Given the description of an element on the screen output the (x, y) to click on. 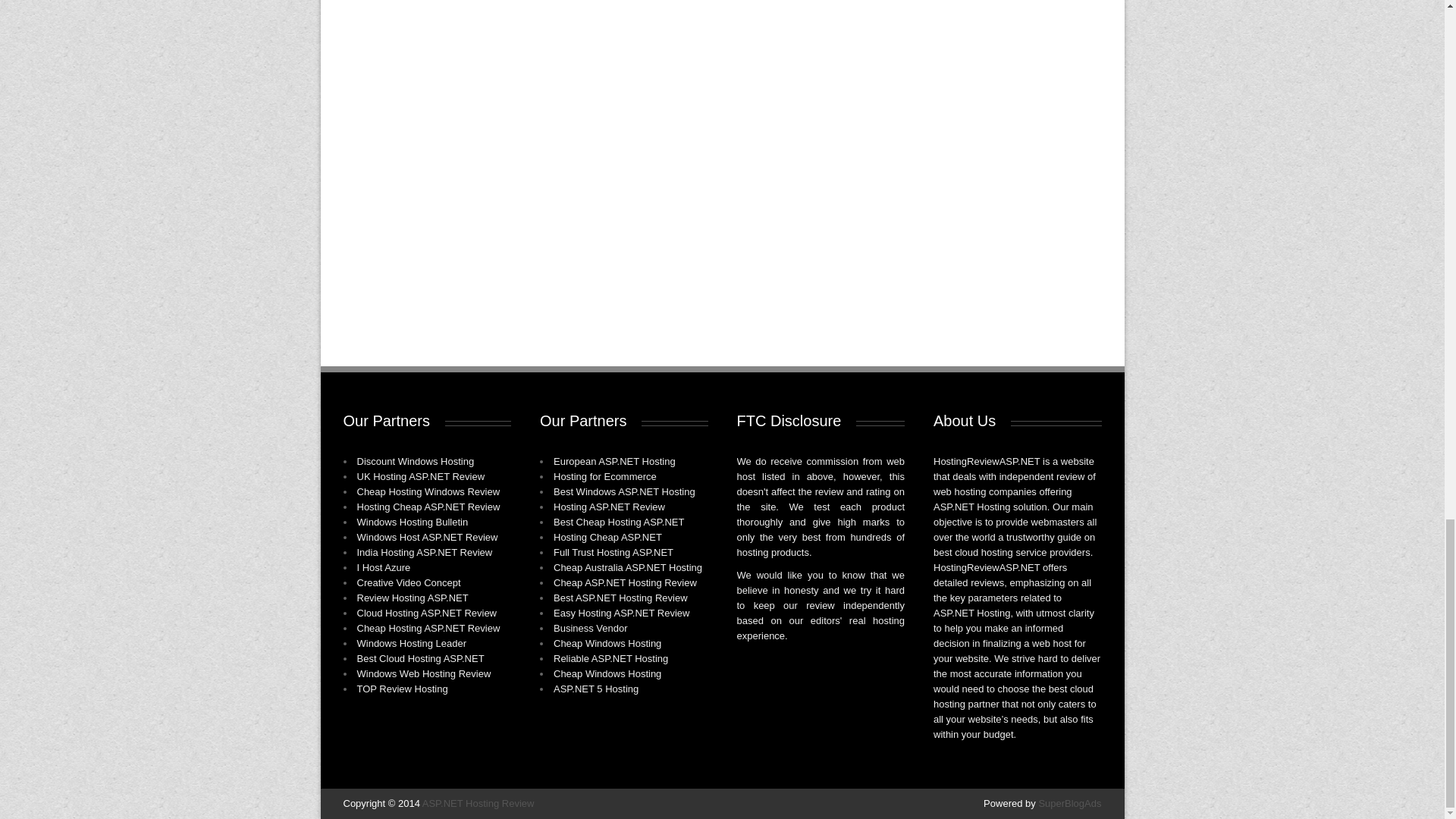
Post Comment (397, 263)
Discount Windows Hosting (415, 460)
Cheap Hosting Windows Review (427, 491)
UK Hosting ASP.NET Review (420, 476)
